Given the description of an element on the screen output the (x, y) to click on. 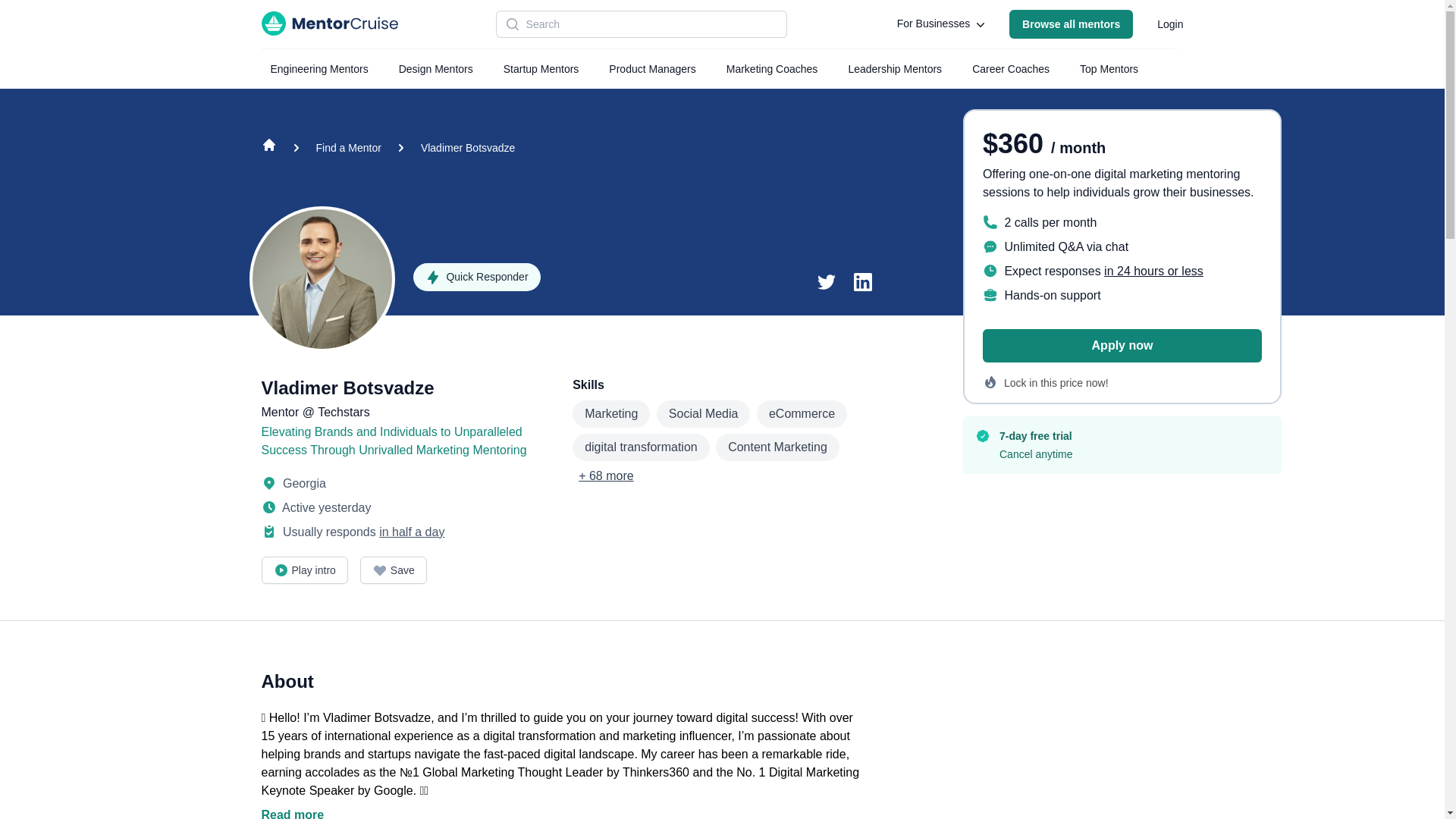
Georgia (292, 482)
Apply now (1122, 345)
Read more (559, 812)
Design Mentors (435, 68)
Mentor (280, 411)
digital transformation (641, 447)
Home (268, 147)
Find a mentor (1070, 23)
Techstars (343, 411)
Login (1169, 23)
